Given the description of an element on the screen output the (x, y) to click on. 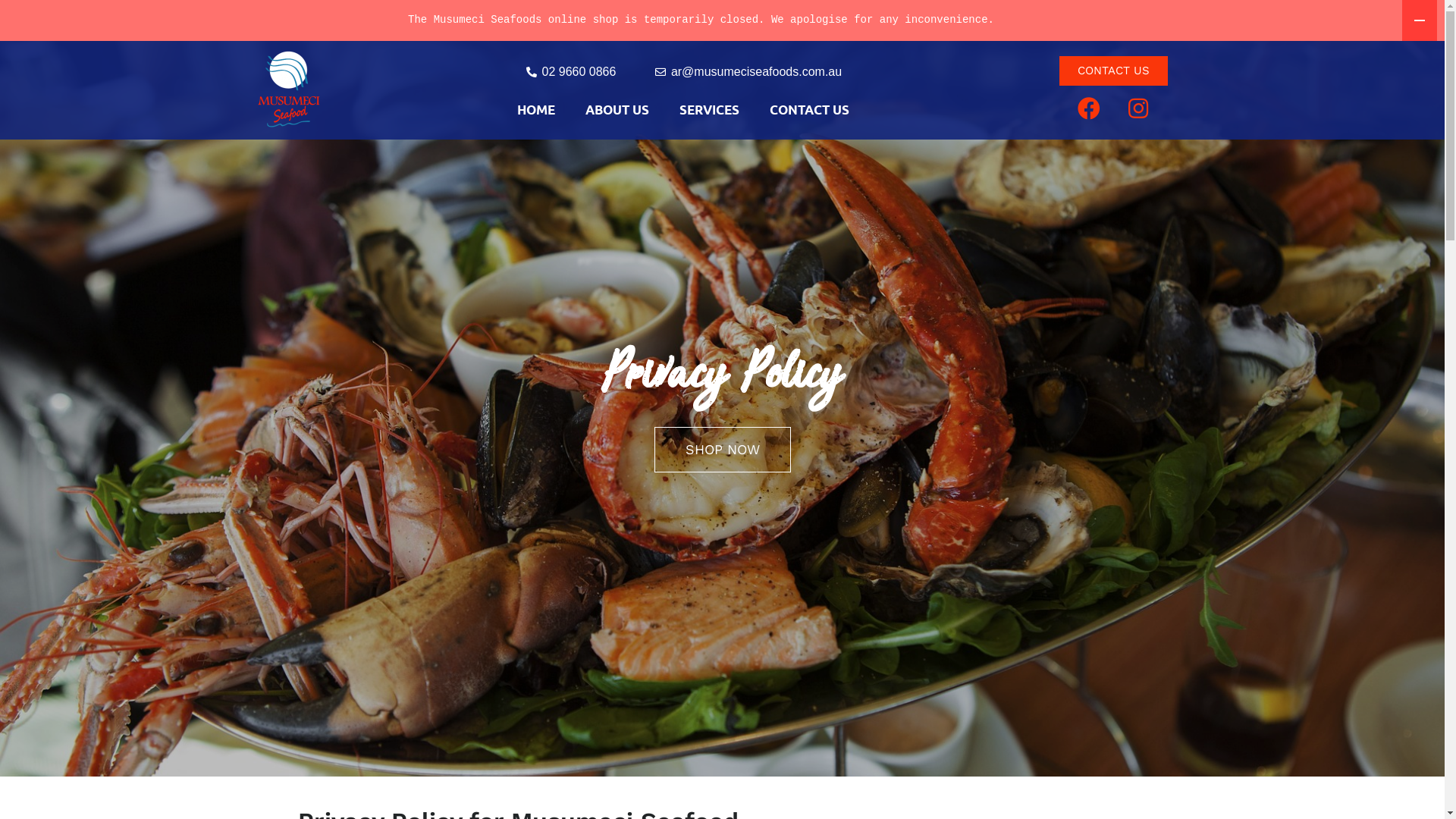
SERVICES Element type: text (709, 109)
02 9660 0866 Element type: text (569, 71)
ar@musumeciseafoods.com.au Element type: text (747, 71)
HOME Element type: text (536, 109)
SHOP NOW Element type: text (721, 449)
ABOUT US Element type: text (617, 109)
CONTACT US Element type: text (809, 109)
CONTACT US Element type: text (1113, 70)
